Given the description of an element on the screen output the (x, y) to click on. 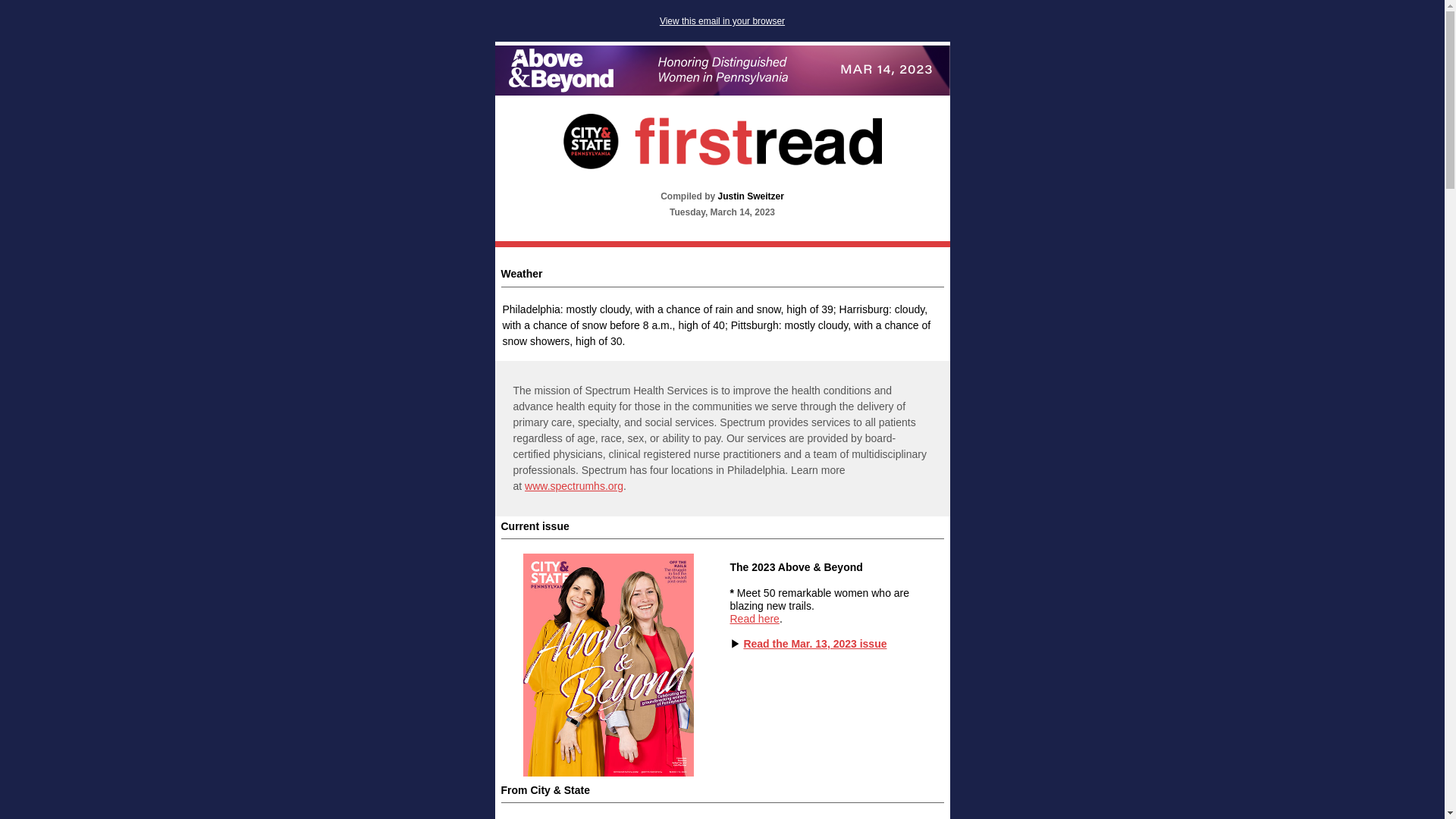
www.spectrumhs.org (573, 485)
Read the Mar. 13, 2023 issue (814, 644)
Read here (753, 618)
View this email in your browser (721, 20)
